Given the description of an element on the screen output the (x, y) to click on. 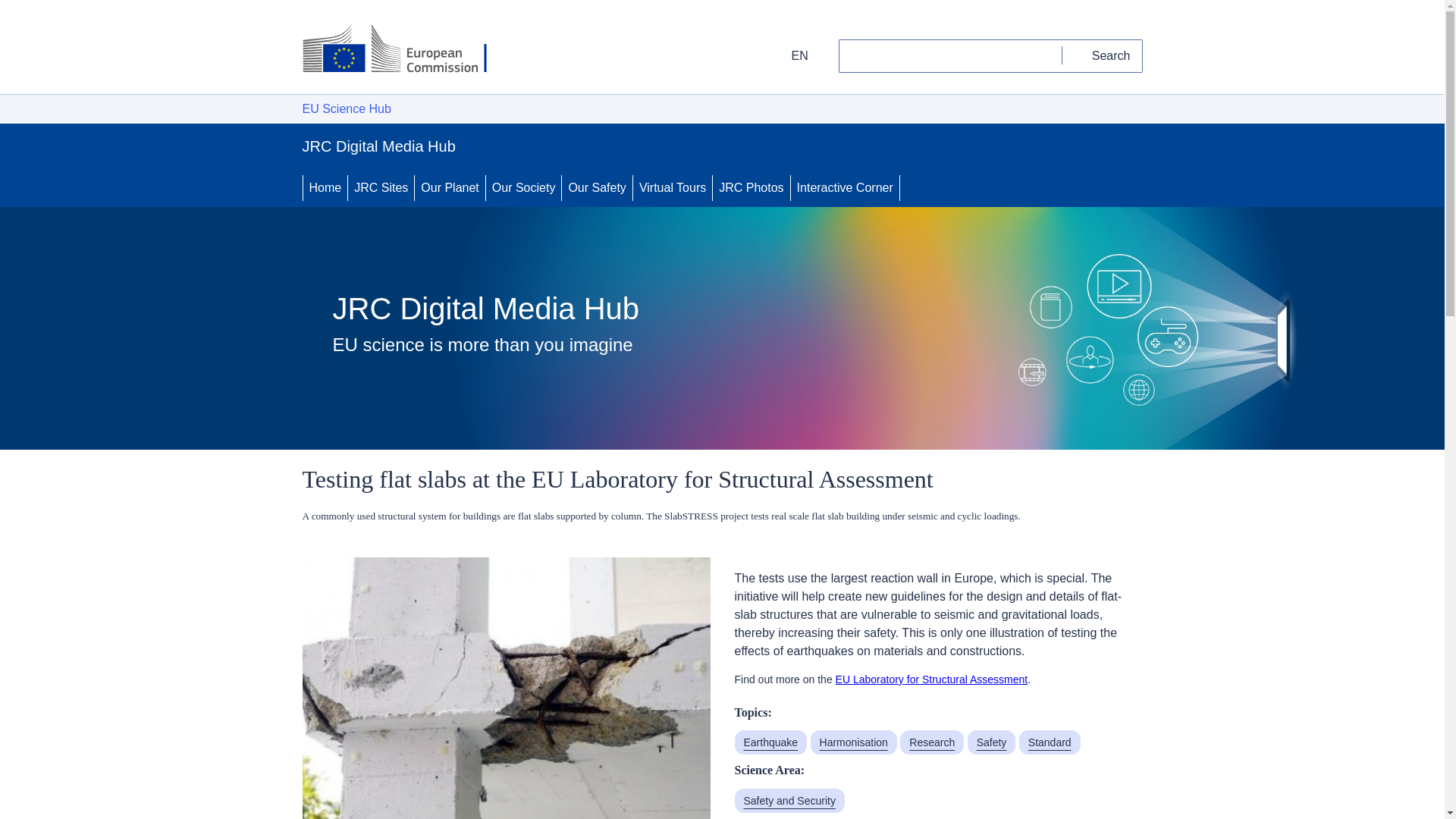
JRC Photos (751, 187)
JRC Sites (380, 187)
Harmonisation (853, 742)
Safety and Security (788, 800)
Earthquake (769, 742)
Our Society (524, 187)
Interactive Corner (844, 187)
Safety (992, 742)
Standard (1049, 742)
EU Laboratory for Structural Assessment (931, 679)
